Given the description of an element on the screen output the (x, y) to click on. 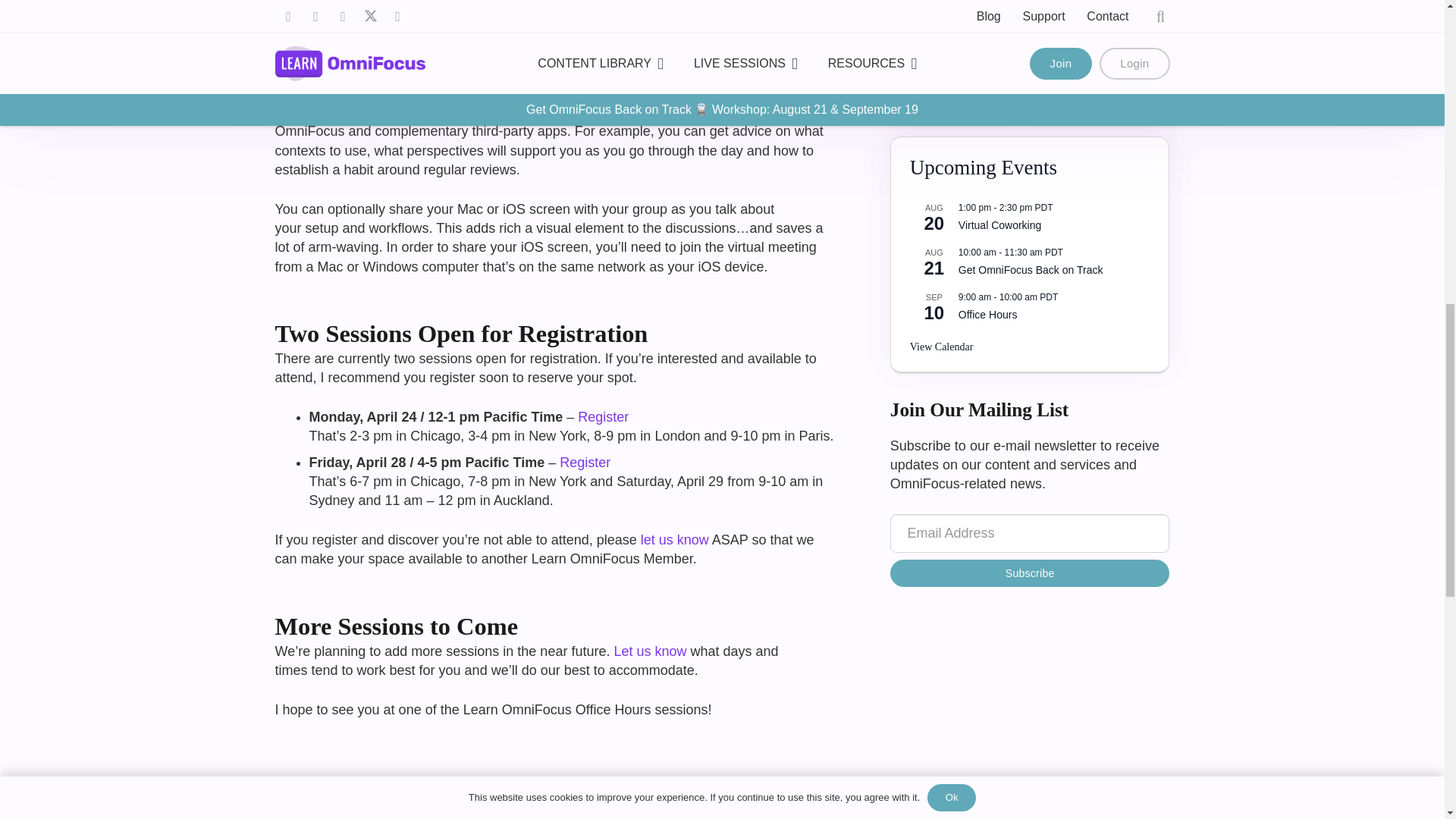
Register (603, 417)
let us know (674, 539)
Register (584, 462)
